Given the description of an element on the screen output the (x, y) to click on. 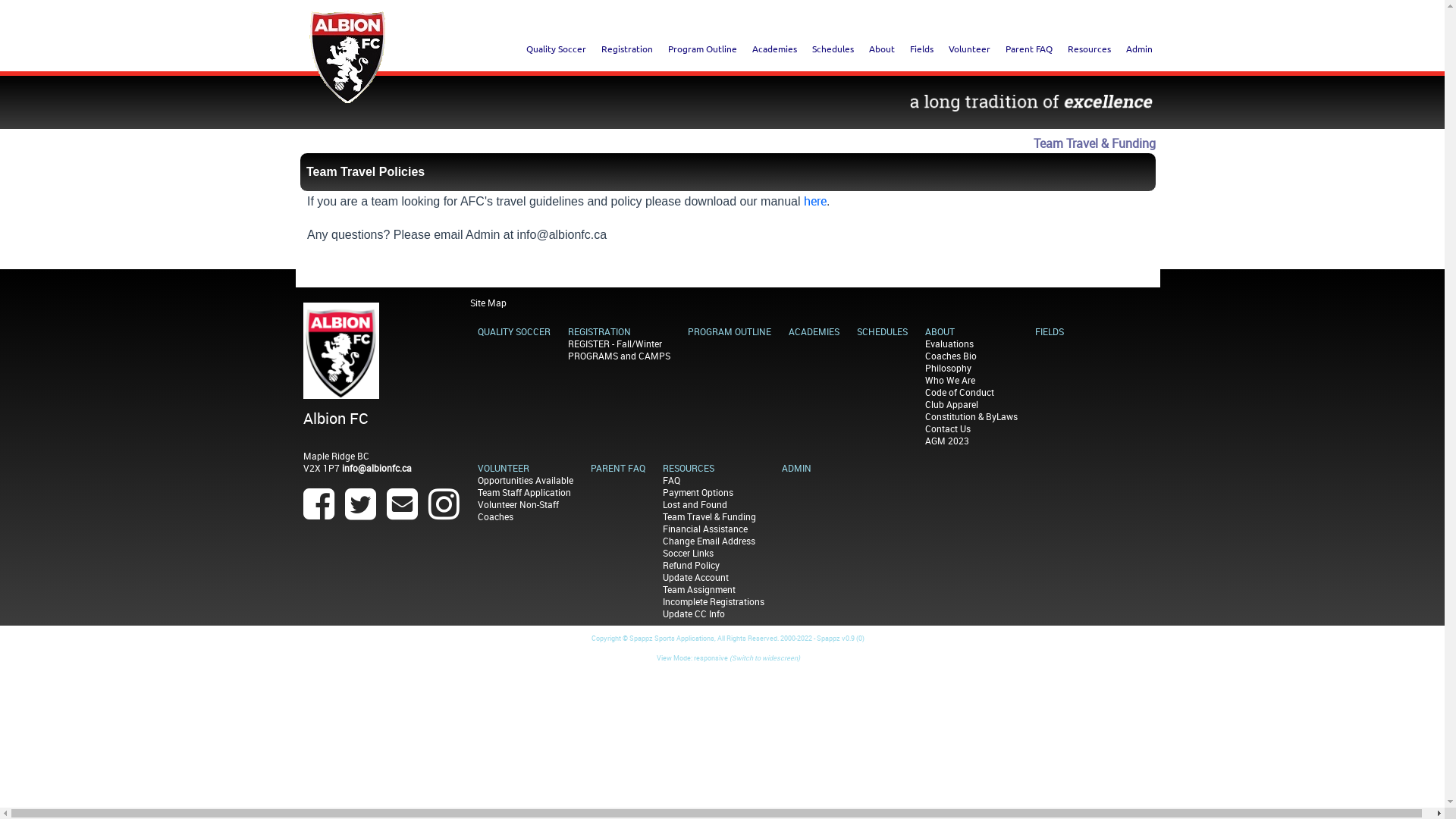
Constitution & ByLaws Element type: text (971, 416)
Parent FAQ Element type: text (1028, 48)
Admin Element type: text (1139, 48)
Quality Soccer Element type: text (555, 48)
Volunteer Non-Staff Element type: text (517, 504)
Update Account Element type: text (695, 577)
Philosophy Element type: text (948, 367)
Soccer Links Element type: text (687, 552)
Evaluations Element type: text (949, 343)
Change Email Address Element type: text (708, 540)
Refund Policy Element type: text (690, 564)
Who We Are Element type: text (950, 379)
AGM 2023 Element type: text (947, 440)
Fields Element type: text (921, 48)
Program Outline Element type: text (702, 48)
Coaches Bio Element type: text (950, 355)
Lost and Found Element type: text (694, 504)
About Element type: text (881, 48)
Opportunities Available Element type: text (525, 479)
FAQ Element type: text (671, 479)
Academies Element type: text (774, 48)
VOLUNTEER Element type: text (503, 467)
REGISTER - Fall/Winter Element type: text (614, 343)
Coaches Element type: text (495, 516)
Team Assignment Element type: text (698, 589)
SCHEDULES Element type: text (881, 331)
ACADEMIES Element type: text (813, 331)
ADMIN Element type: text (796, 467)
FIELDS Element type: text (1049, 331)
info@albionfc.ca Element type: text (376, 467)
ABOUT Element type: text (939, 331)
Update CC Info Element type: text (693, 613)
Club Apparel Element type: text (951, 404)
Financial Assistance Element type: text (704, 528)
RESOURCES Element type: text (688, 467)
Payment Options Element type: text (697, 492)
Code of Conduct Element type: text (959, 391)
Team Staff Application Element type: text (524, 492)
QUALITY SOCCER Element type: text (513, 331)
here Element type: text (814, 200)
Schedules Element type: text (832, 48)
Resources Element type: text (1089, 48)
PARENT FAQ Element type: text (617, 467)
PROGRAMS and CAMPS Element type: text (618, 355)
Contact Us Element type: text (947, 428)
PROGRAM OUTLINE Element type: text (729, 331)
Volunteer Element type: text (969, 48)
Team Travel & Funding Element type: text (709, 516)
(Switch to widescreen) Element type: text (764, 657)
Incomplete Registrations Element type: text (713, 601)
